Given the description of an element on the screen output the (x, y) to click on. 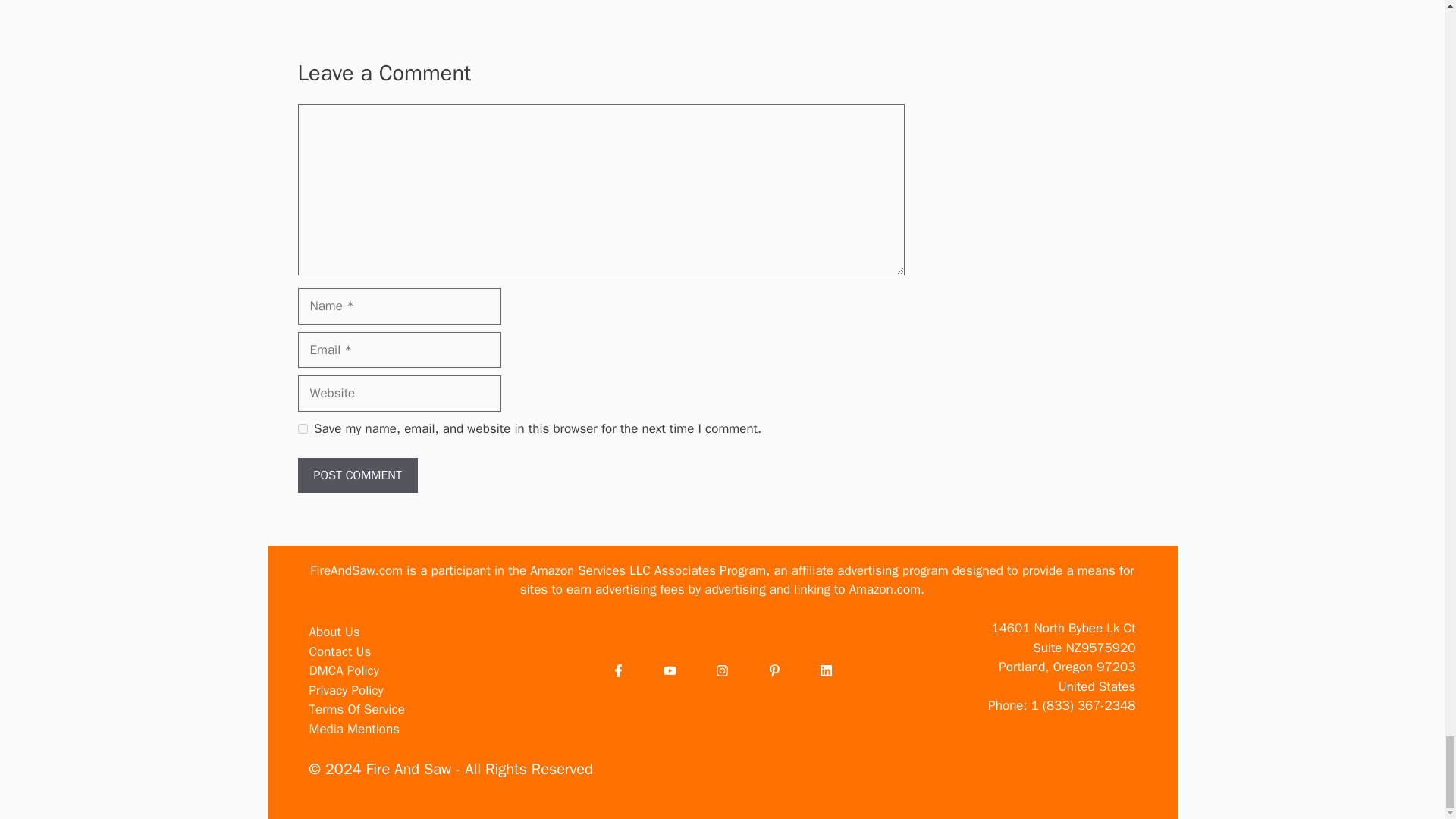
yes (302, 429)
Post Comment (356, 475)
Post Comment (356, 475)
